Given the description of an element on the screen output the (x, y) to click on. 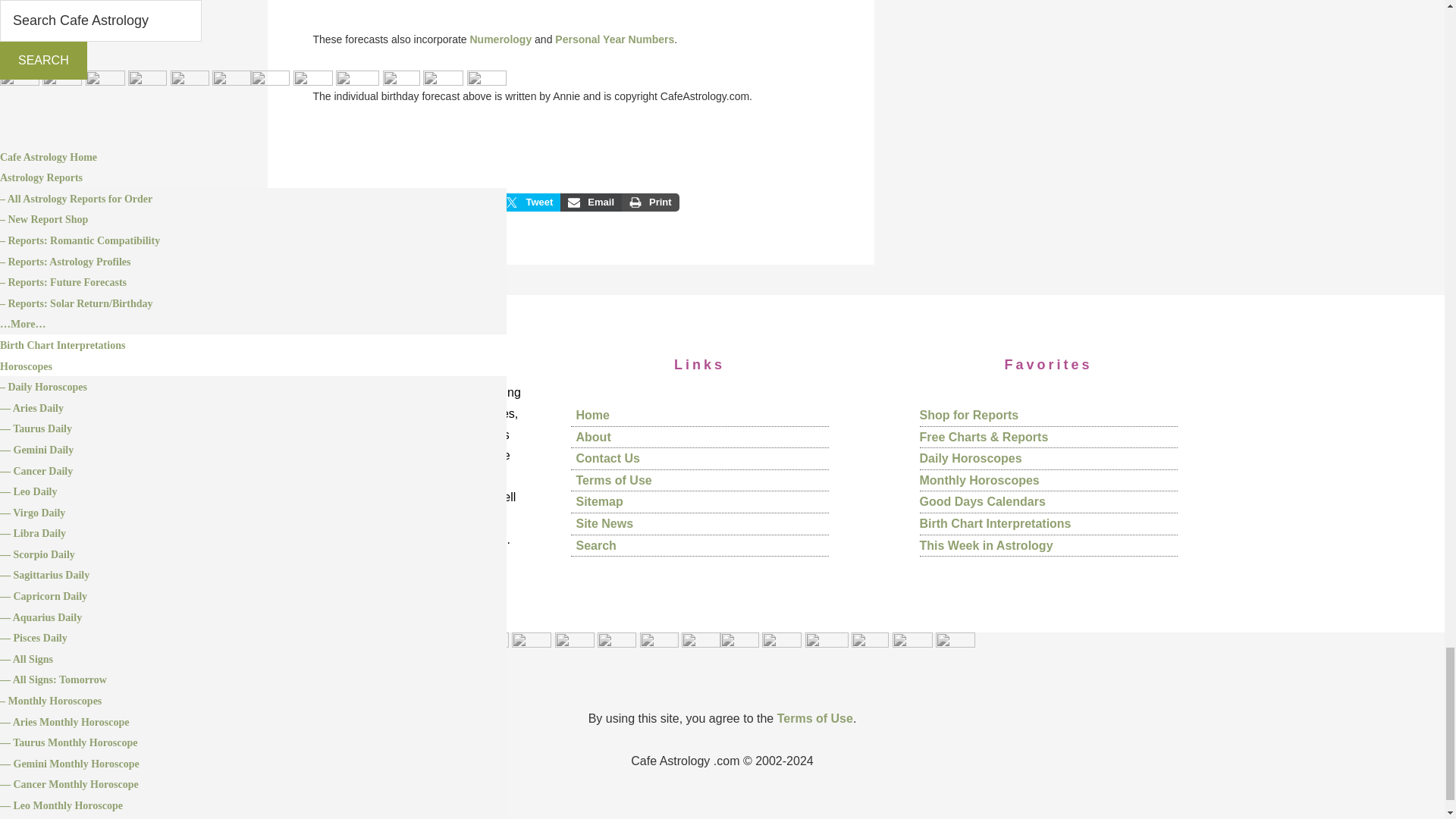
Personal Year Numbers (614, 39)
Print (650, 202)
Share via Email (590, 202)
Numerology (501, 39)
Email (590, 202)
Share on Twitter (528, 202)
Print this Page (650, 202)
Like (420, 202)
Facebook (353, 202)
Pin (472, 202)
